Given the description of an element on the screen output the (x, y) to click on. 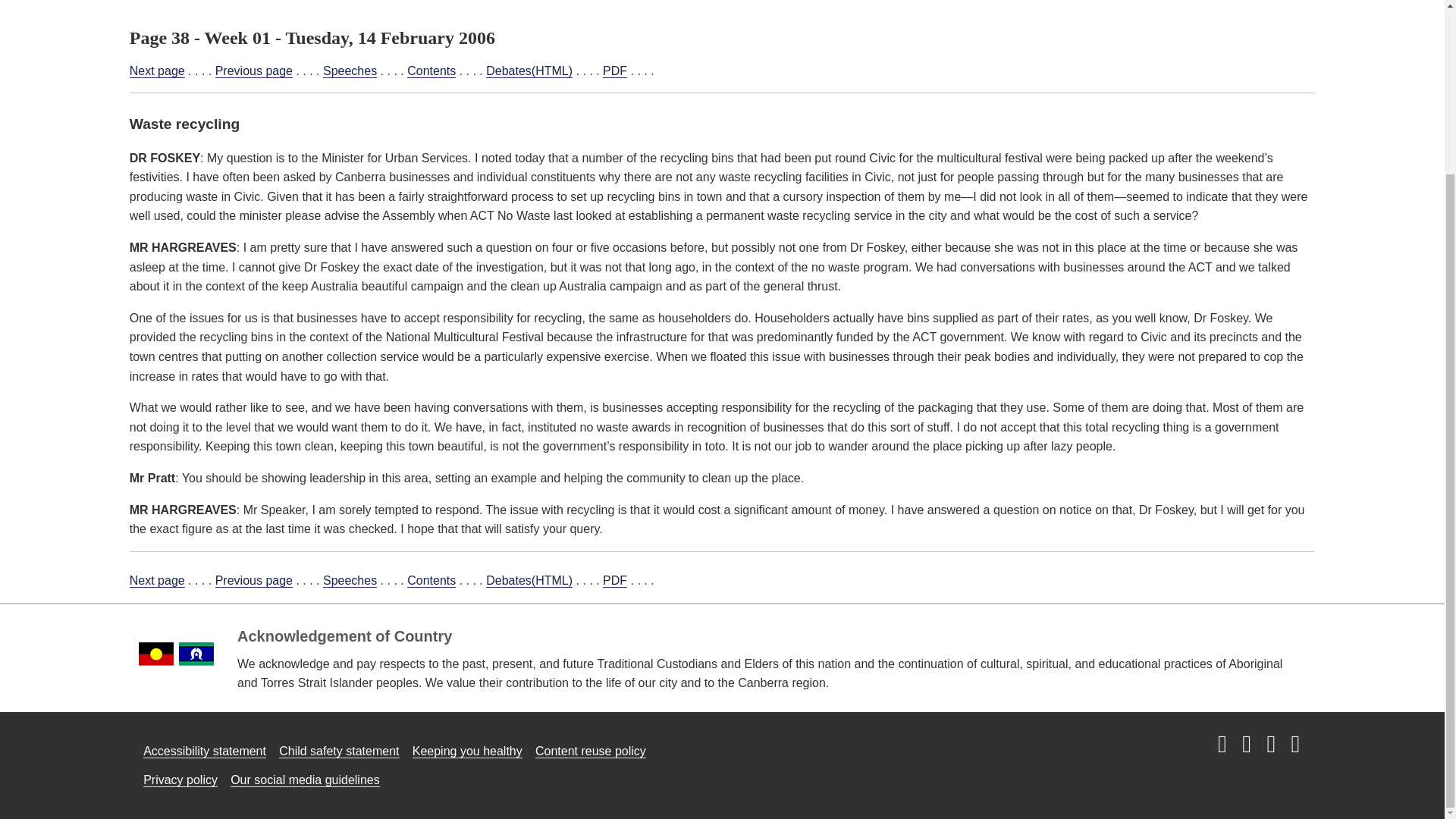
Speeches (350, 581)
Read our access and inclusion statement (204, 751)
Child safety statement (338, 751)
Keeping you healthy (467, 751)
Our social media guidelines (305, 780)
Contents (431, 70)
Read our child safety committment (338, 751)
Read our social media guidelines (305, 780)
Read our content sharing and re-use policy (590, 751)
PDF (614, 70)
